Given the description of an element on the screen output the (x, y) to click on. 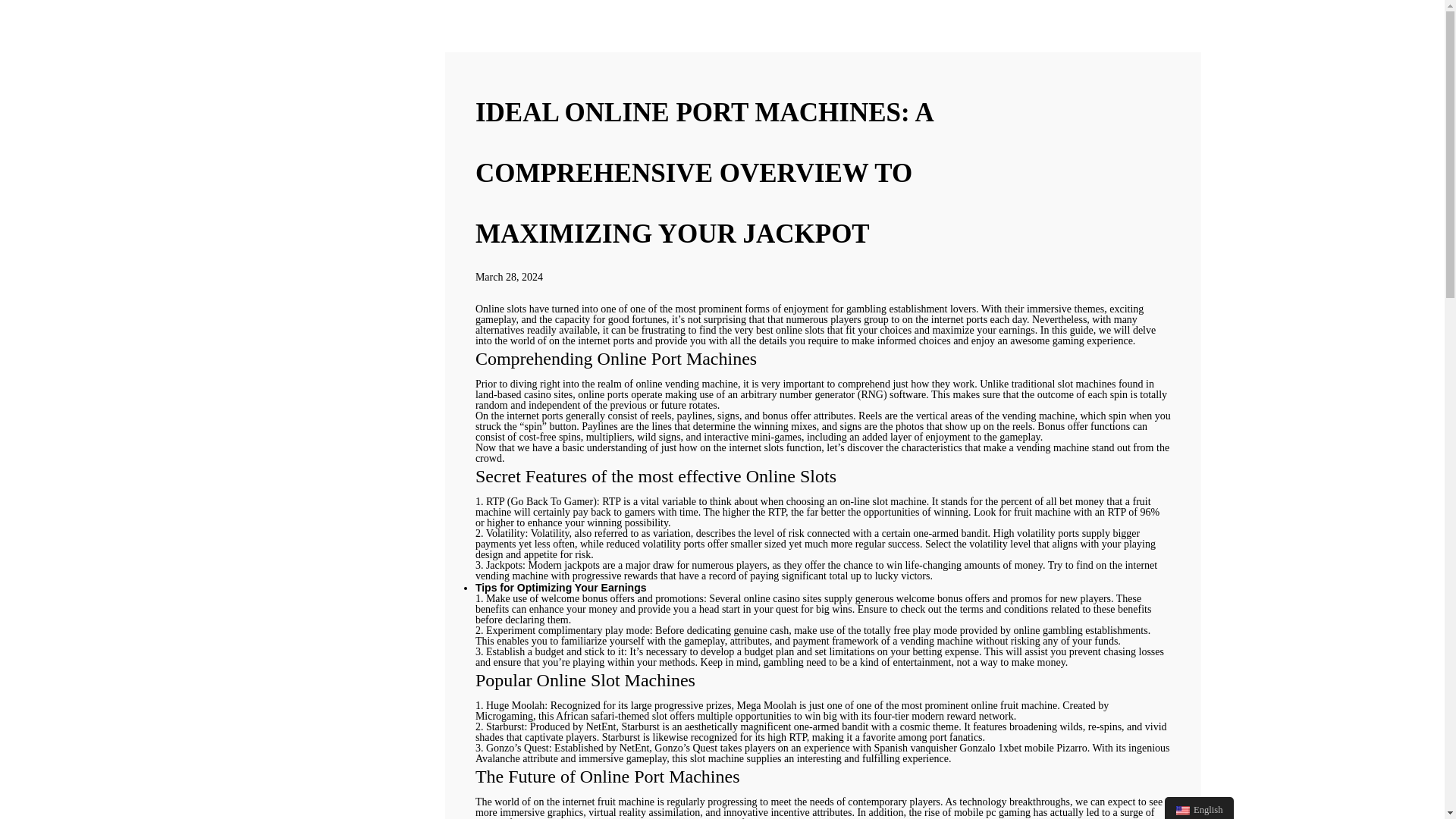
English (1198, 807)
English (1182, 809)
1xbet mobile (1025, 747)
CONTACT (101, 320)
SERVICES (101, 284)
HOME (101, 210)
ABOUT (101, 247)
March 28, 2024 (509, 276)
